Given the description of an element on the screen output the (x, y) to click on. 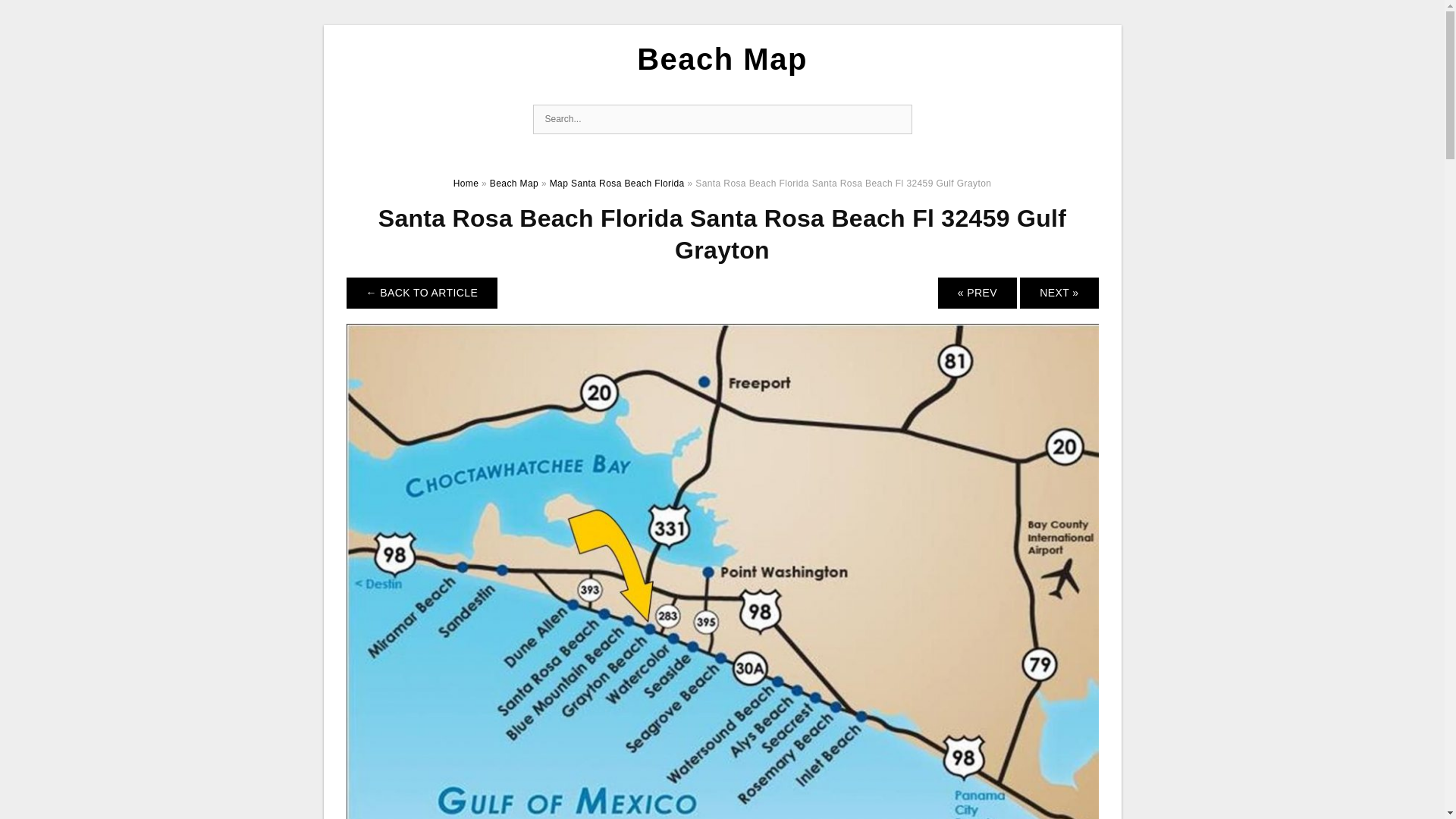
Map Santa Rosa Beach Florida (617, 183)
Search for: (721, 119)
Home (465, 183)
Beach Map (513, 183)
Search (895, 119)
Search (895, 119)
Search (895, 119)
Return to Map Santa Rosa Beach Florida (421, 292)
